Given the description of an element on the screen output the (x, y) to click on. 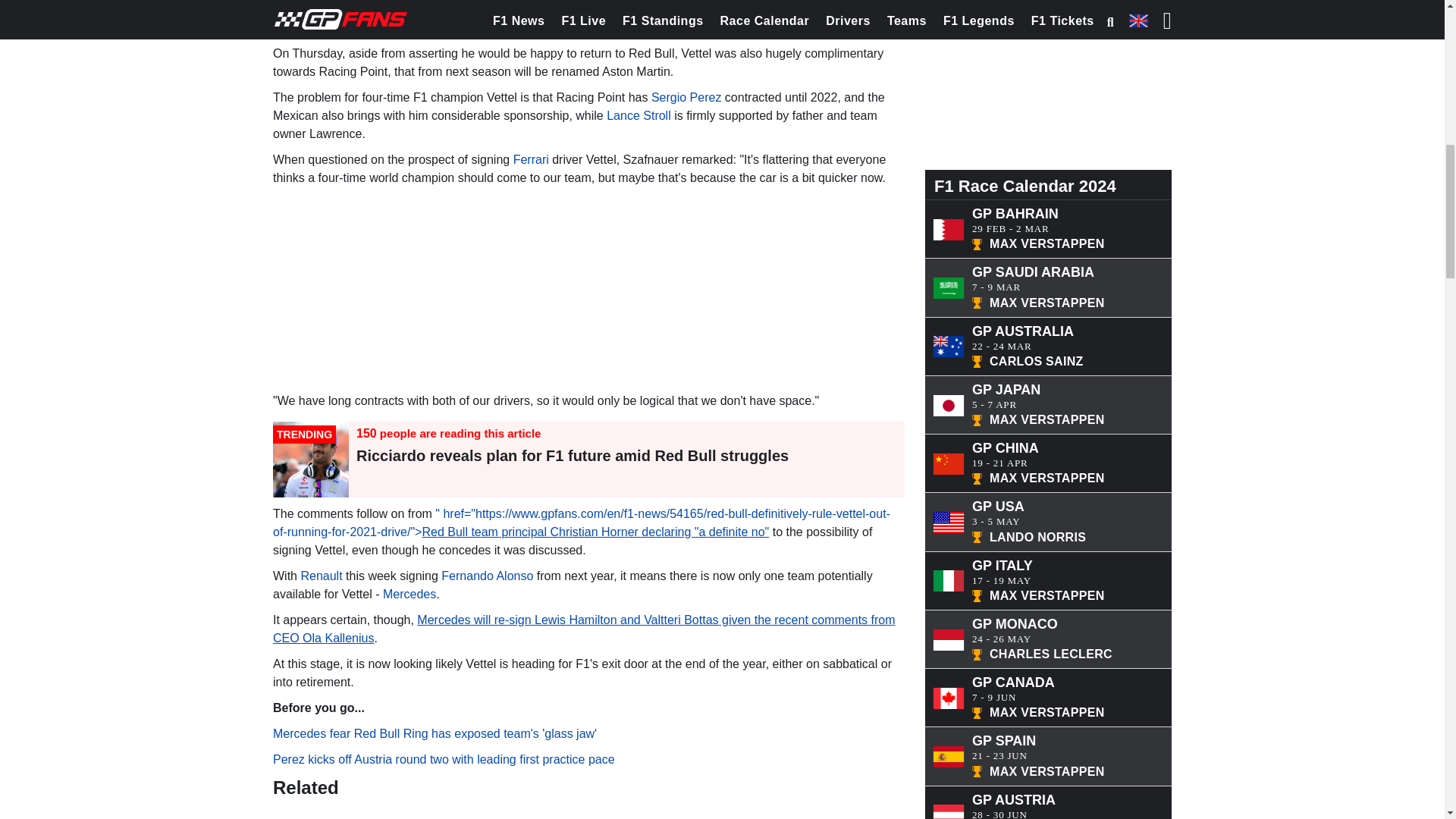
Ferrari (530, 159)
Sebastian Vettel (322, 27)
Sergio Perez (686, 97)
Mercedes fear Red Bull Ring has exposed team's 'glass jaw' (434, 733)
Ricciardo reveals plan for F1 future amid Red Bull struggles (572, 455)
Lance Stroll (639, 115)
